Given the description of an element on the screen output the (x, y) to click on. 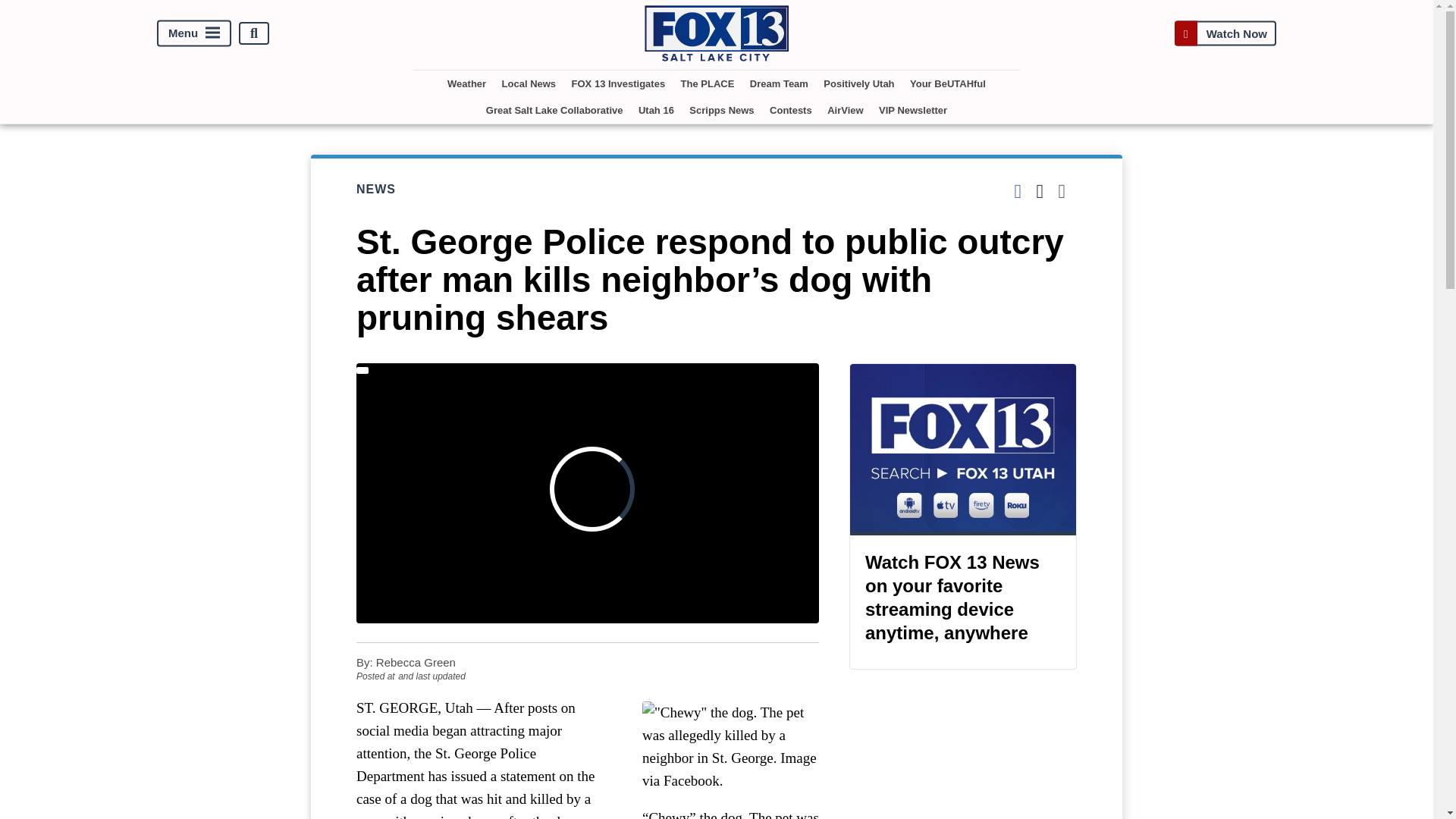
Watch Now (1224, 33)
Menu (194, 33)
